Given the description of an element on the screen output the (x, y) to click on. 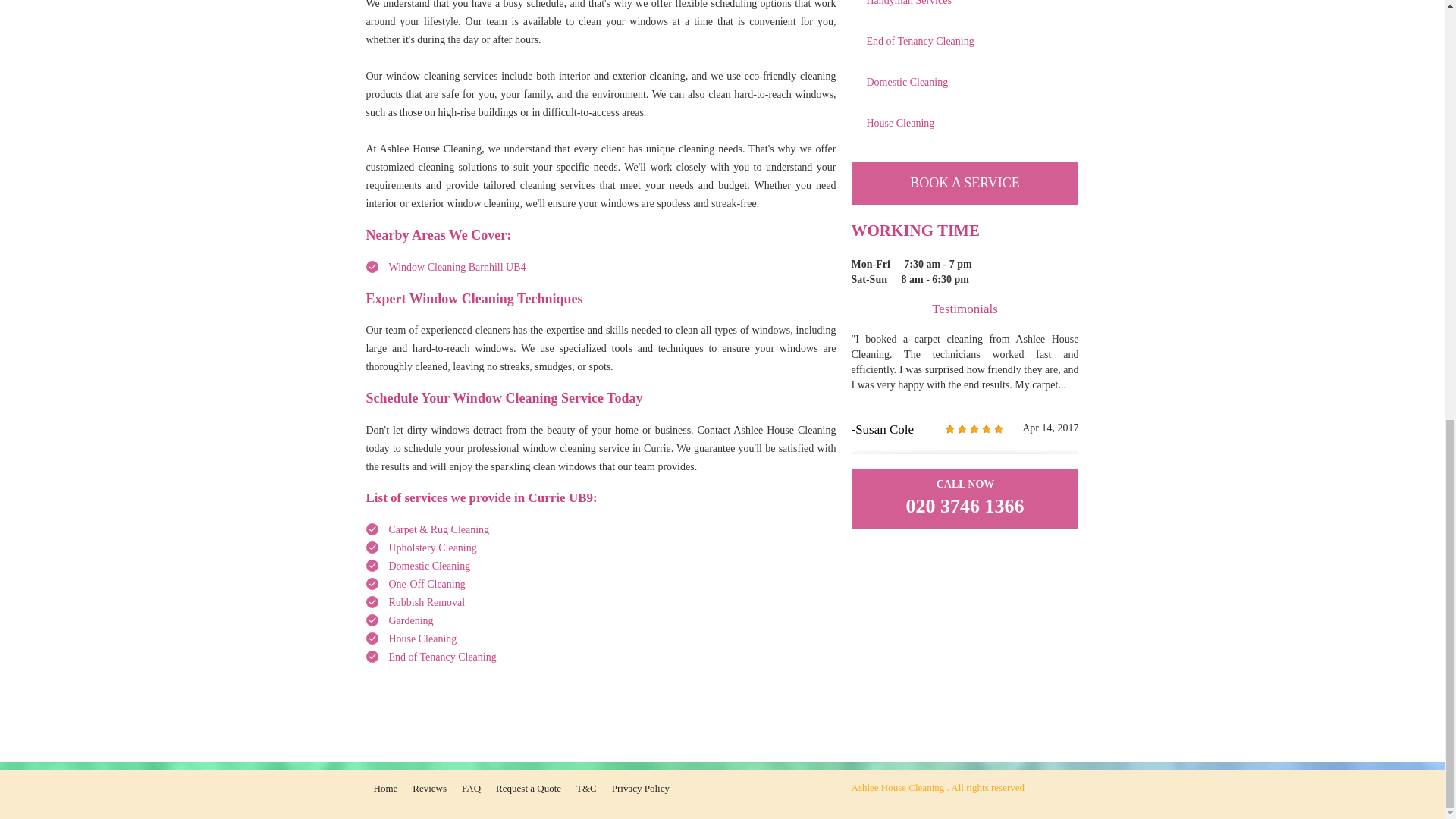
Handyman Services (965, 7)
Gardening (410, 620)
Rubbish Removal (426, 602)
End of Tenancy Cleaning (442, 656)
Upholstery Cleaning (432, 547)
House Cleaning (422, 638)
One-Off Cleaning (426, 583)
Domestic Cleaning (429, 565)
Window Cleaning Barnhill UB4 (456, 266)
